Given the description of an element on the screen output the (x, y) to click on. 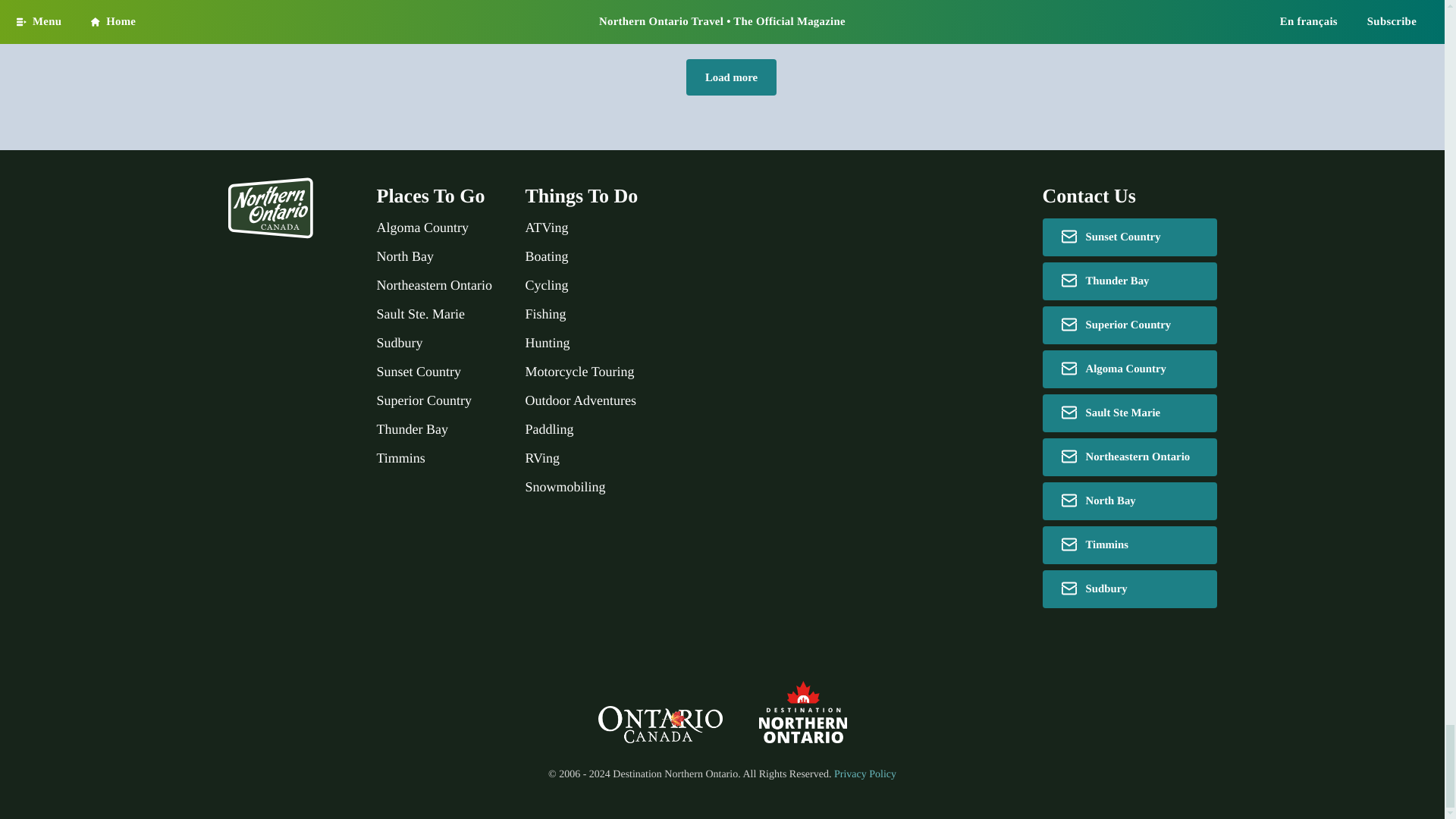
Load more (730, 76)
